Given the description of an element on the screen output the (x, y) to click on. 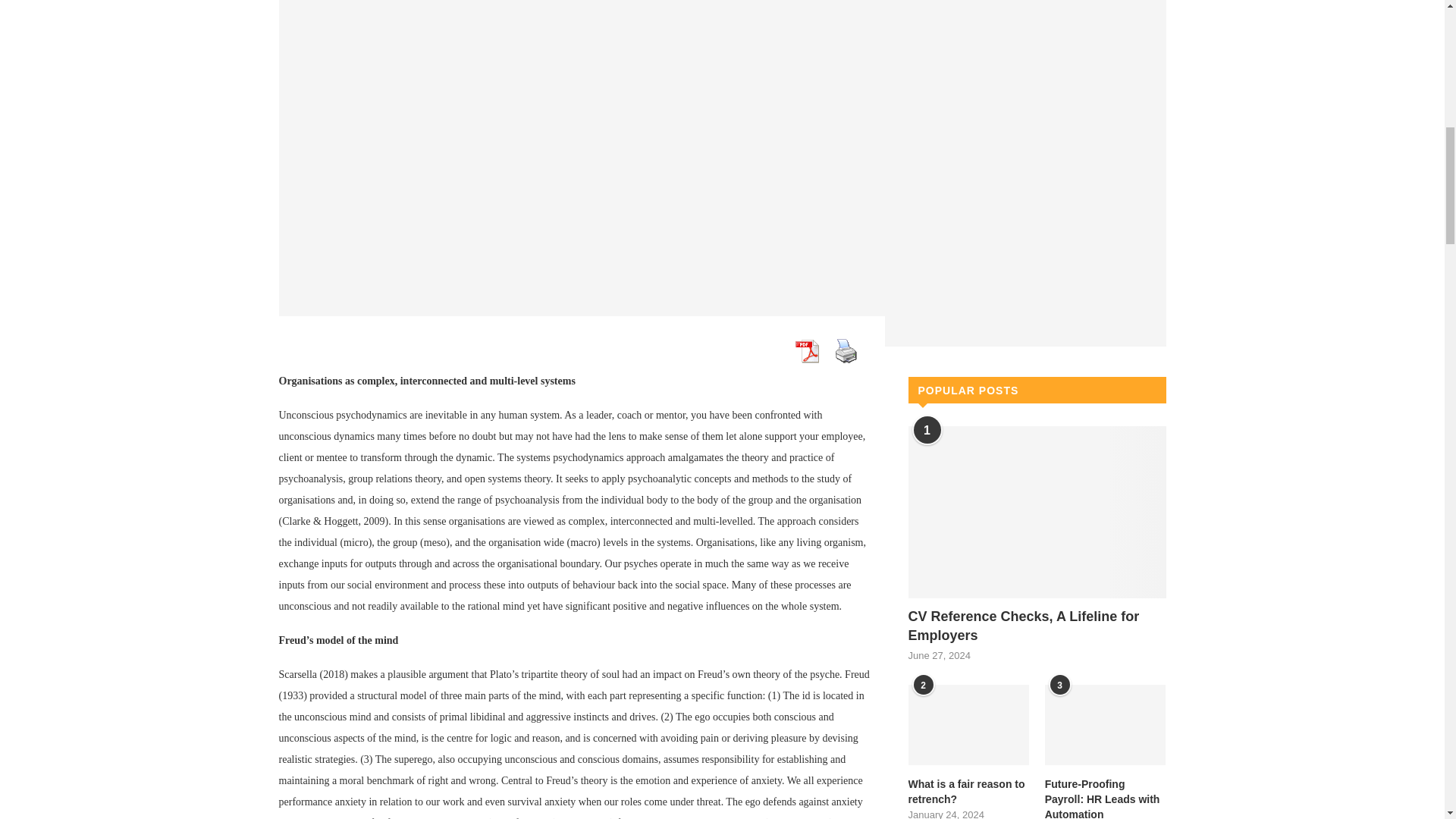
CV Reference Checks, A Lifeline for Employers (1037, 511)
CV Reference Checks, A Lifeline for Employers (1037, 626)
View PDF (806, 350)
What is a fair reason to retrench? (968, 724)
Print Content (845, 350)
